Given the description of an element on the screen output the (x, y) to click on. 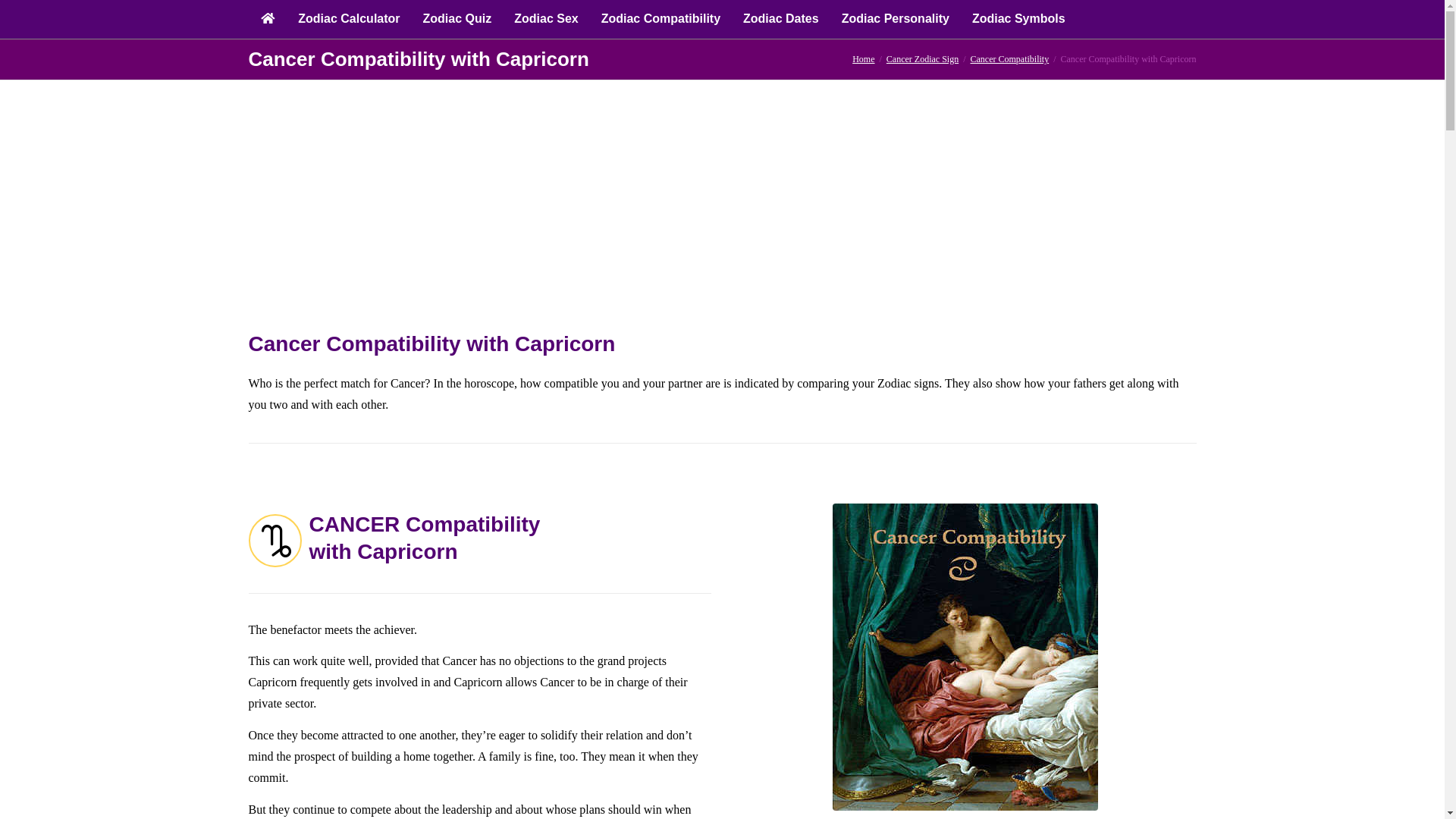
Zodiac Quiz (457, 19)
Cancer Compatibility (1010, 59)
Cancer Zodiac Sign (922, 59)
Zodiac Sign Astrology (863, 59)
Zodiac Calculator (348, 19)
